Given the description of an element on the screen output the (x, y) to click on. 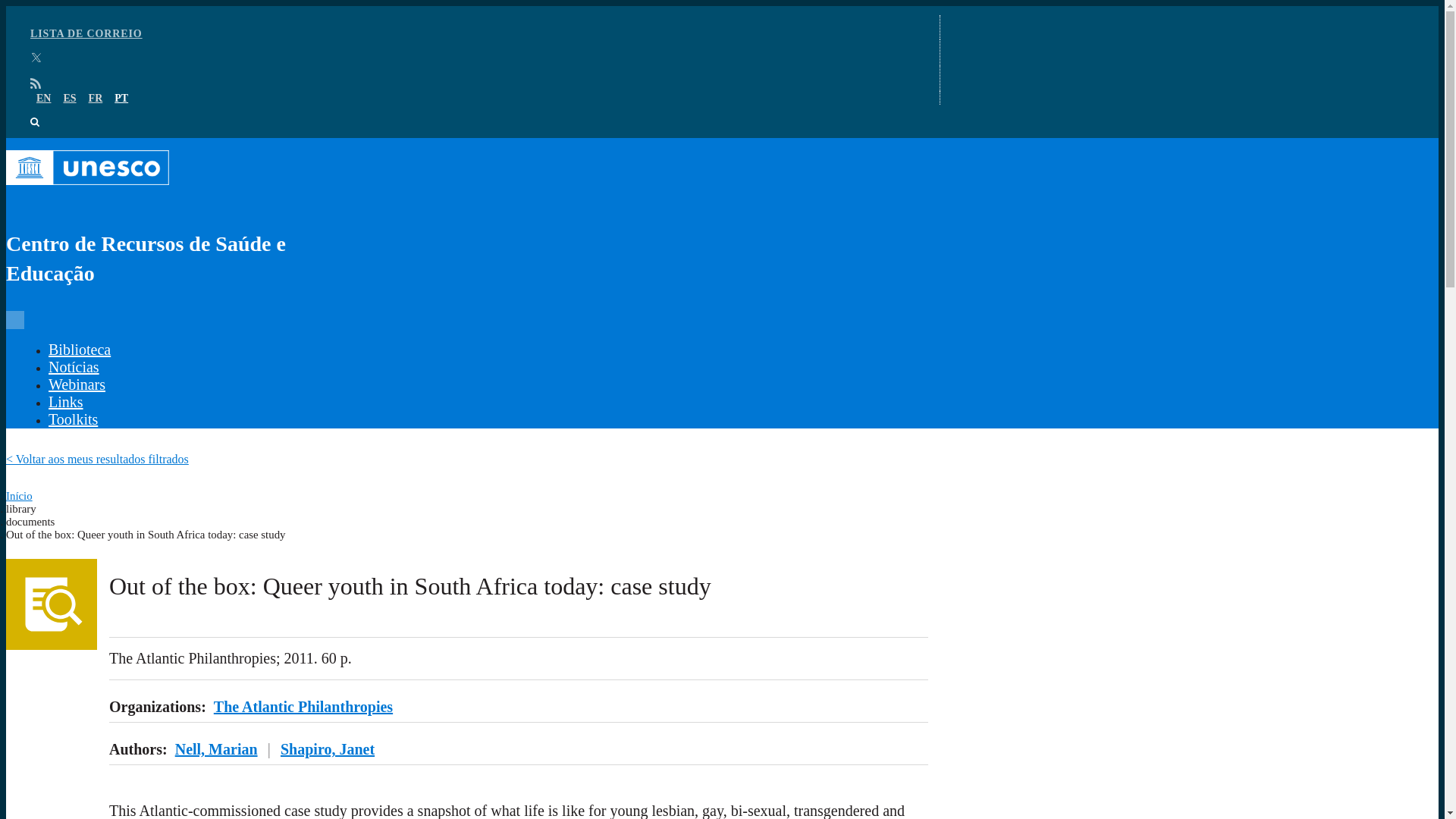
FR (95, 98)
ES (68, 98)
EN (43, 98)
Webinars (76, 384)
Nell, Marian (215, 749)
Toolkits (72, 419)
PT (121, 98)
Biblioteca (79, 349)
Links (65, 401)
Shapiro, Janet (327, 749)
The Atlantic Philanthropies (303, 706)
LISTA DE CORREIO (86, 33)
